Given the description of an element on the screen output the (x, y) to click on. 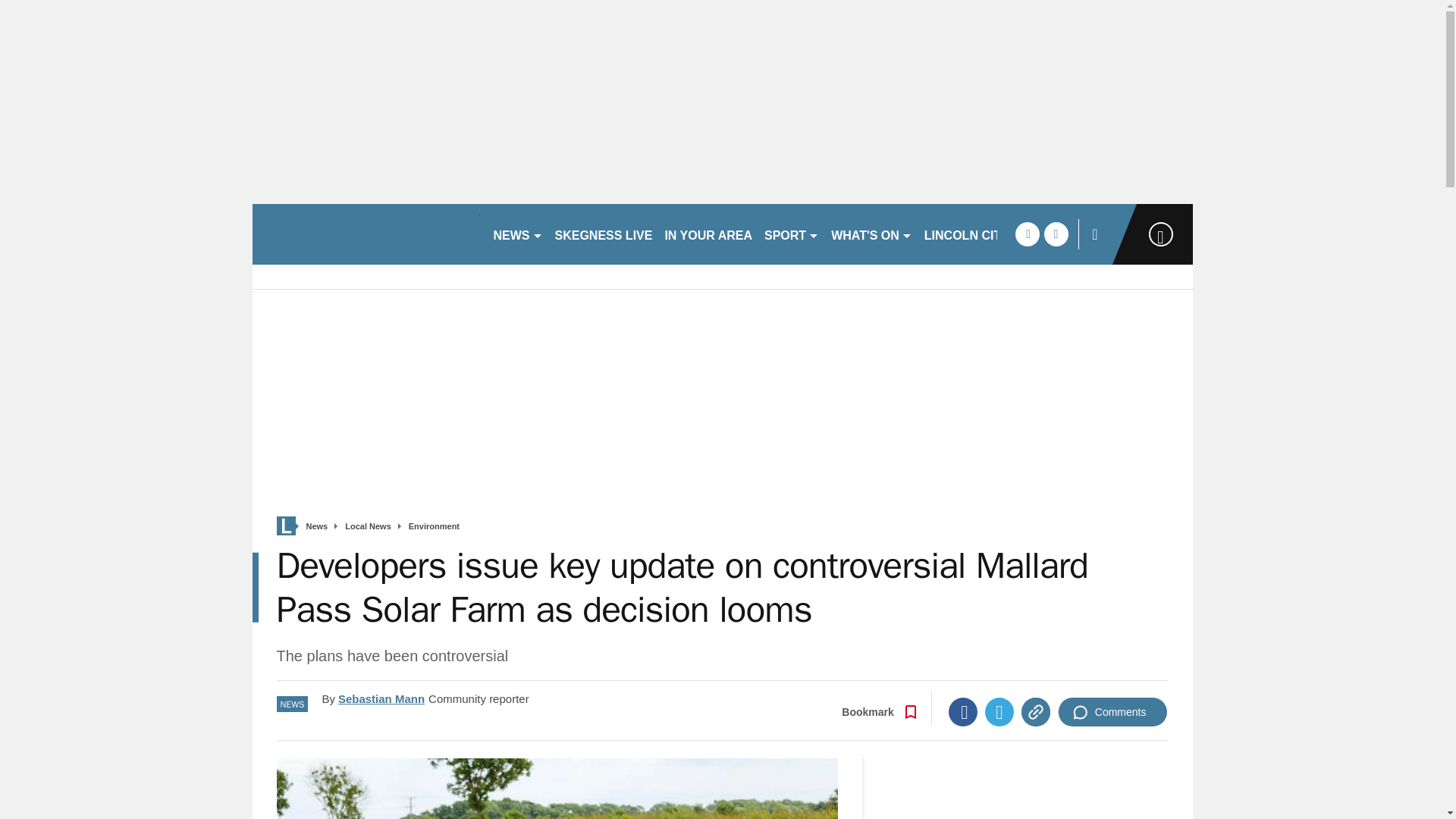
twitter (1055, 233)
NEWS (517, 233)
facebook (1026, 233)
SKEGNESS LIVE (603, 233)
WHAT'S ON (871, 233)
LINCOLN CITY FC (975, 233)
SPORT (791, 233)
Comments (1112, 711)
Facebook (962, 711)
Twitter (999, 711)
